Given the description of an element on the screen output the (x, y) to click on. 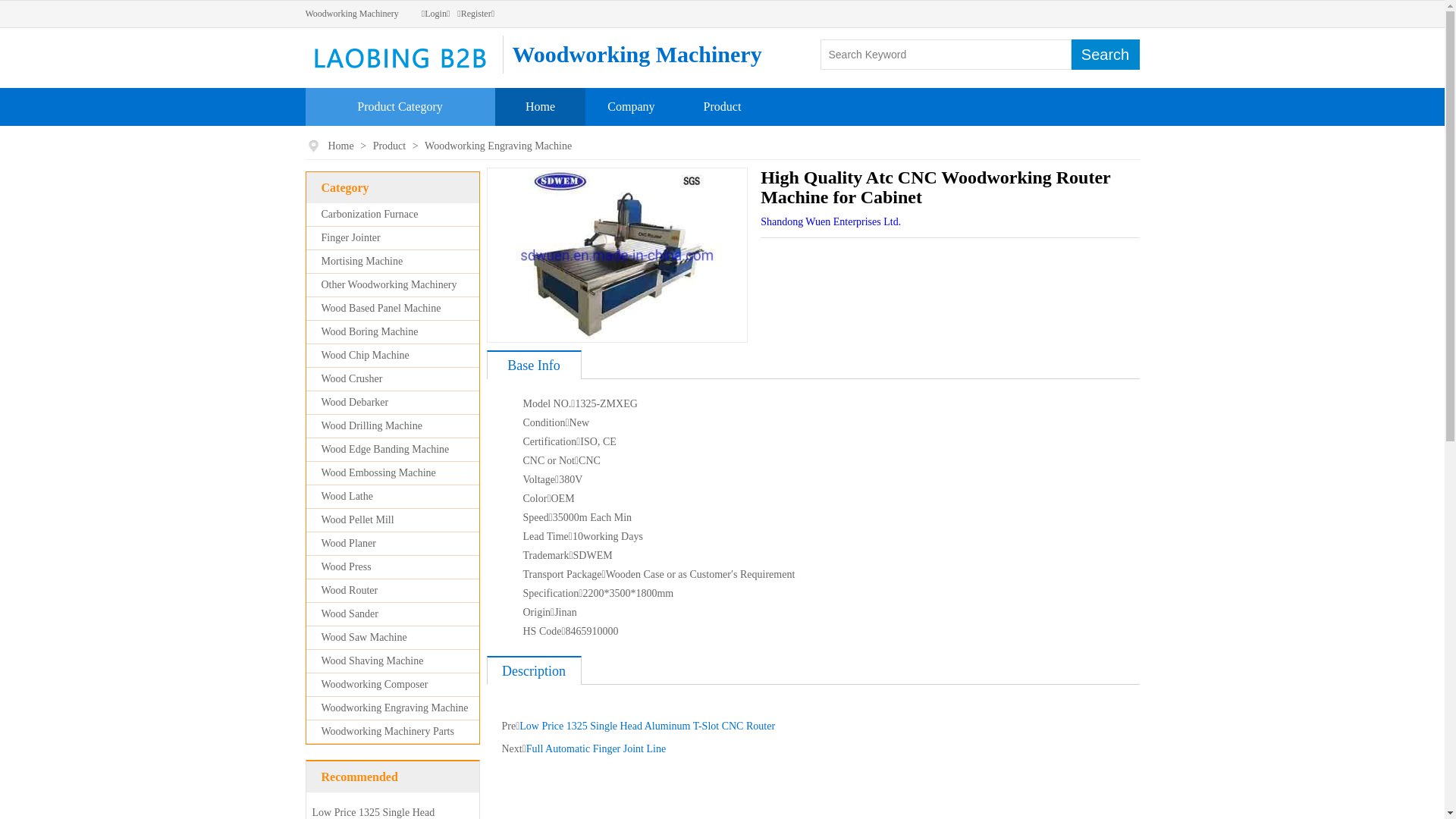
Wood Debarker Element type: text (355, 401)
Home Element type: text (540, 106)
Wood Sander Element type: text (349, 613)
Woodworking Machinery Parts Element type: text (387, 731)
Wood Saw Machine Element type: text (364, 637)
Woodworking Engraving Machine Element type: text (394, 707)
Finger Jointer Element type: text (350, 237)
Mortising Machine Element type: text (362, 260)
Wood Edge Banding Machine Element type: text (385, 449)
Company Element type: text (630, 106)
Wood Based Panel Machine Element type: text (381, 307)
Wood Planer Element type: text (348, 543)
Wood Crusher Element type: text (351, 378)
Product Element type: text (390, 145)
Wood Press Element type: text (346, 566)
Carbonization Furnace Element type: text (369, 213)
Wood Drilling Machine Element type: text (371, 425)
Woodworking Machinery Element type: text (351, 13)
Wood Shaving Machine Element type: text (372, 660)
Other Woodworking Machinery Element type: text (389, 284)
Wood Boring Machine Element type: text (369, 331)
Woodworking Engraving Machine Element type: text (497, 145)
Shandong Wuen Enterprises Ltd. Element type: text (830, 221)
Wood Pellet Mill Element type: text (357, 519)
Wood Chip Machine Element type: text (365, 354)
Wood Router Element type: text (349, 590)
Full Automatic Finger Joint Line Element type: text (595, 748)
Search Element type: text (1104, 54)
Home Element type: text (340, 145)
Woodworking Composer Element type: text (374, 684)
Wood Embossing Machine Element type: text (378, 472)
Low Price 1325 Single Head Aluminum T-Slot CNC Router Element type: text (647, 725)
Wood Lathe Element type: text (347, 496)
Product Category Element type: text (399, 106)
Product Element type: text (722, 106)
